Given the description of an element on the screen output the (x, y) to click on. 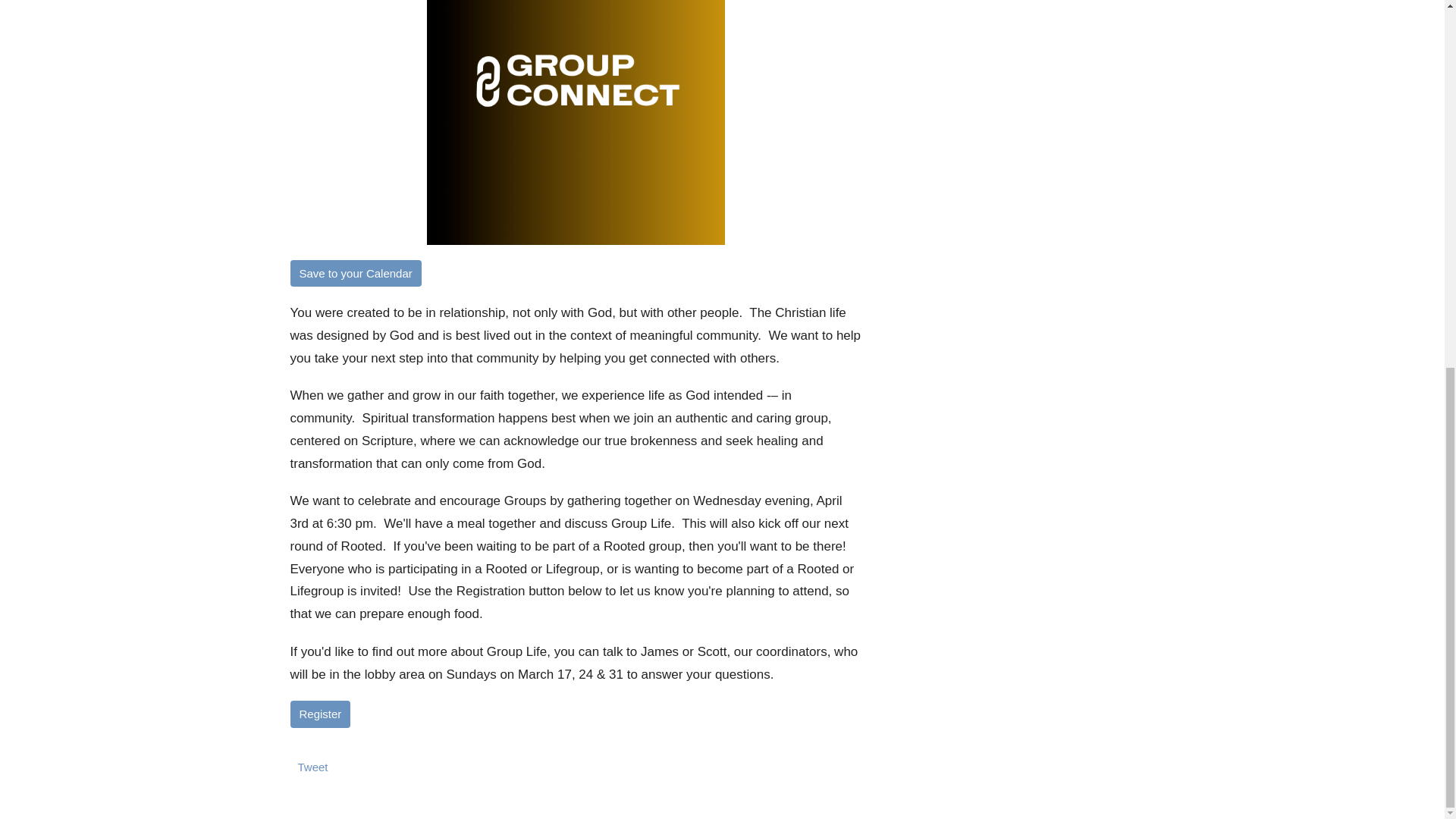
Register (319, 714)
Save to your Calendar (354, 273)
Tweet (312, 766)
